Given the description of an element on the screen output the (x, y) to click on. 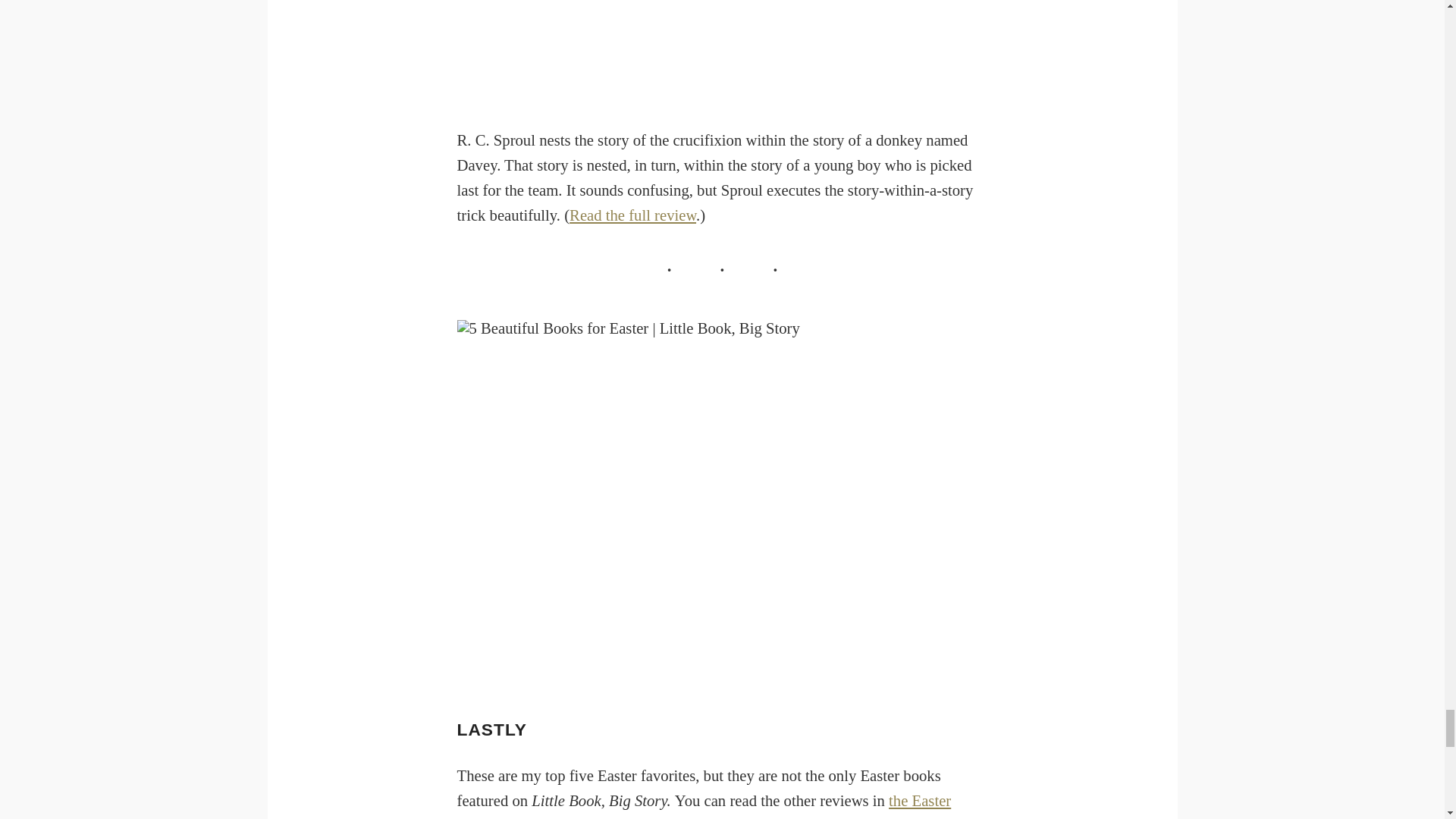
Easter books at Little Book, Big Story (703, 805)
